Given the description of an element on the screen output the (x, y) to click on. 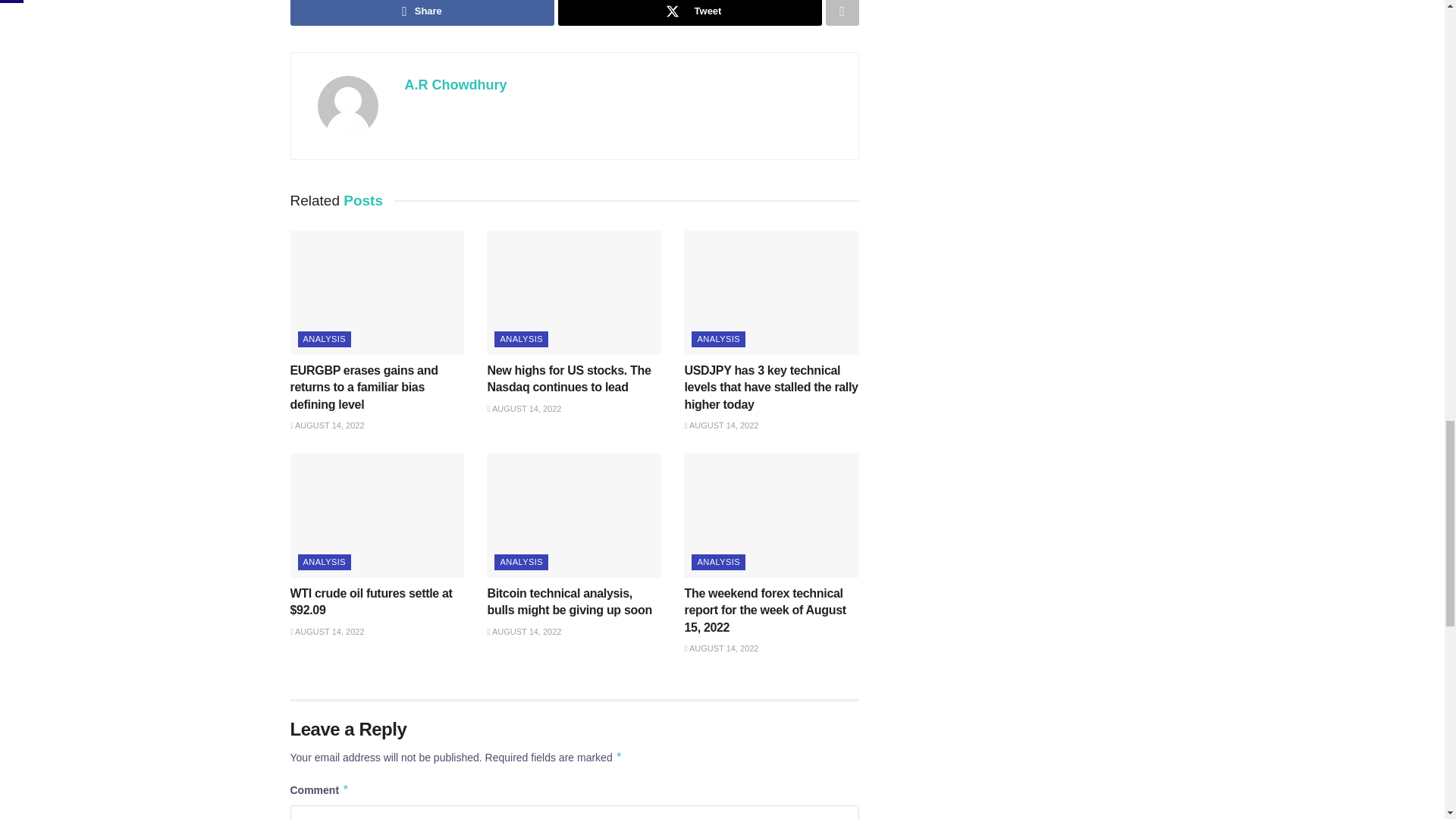
AUGUST 14, 2022 (326, 424)
ANALYSIS (323, 339)
Tweet (689, 12)
A.R Chowdhury (455, 84)
Share (421, 12)
